Given the description of an element on the screen output the (x, y) to click on. 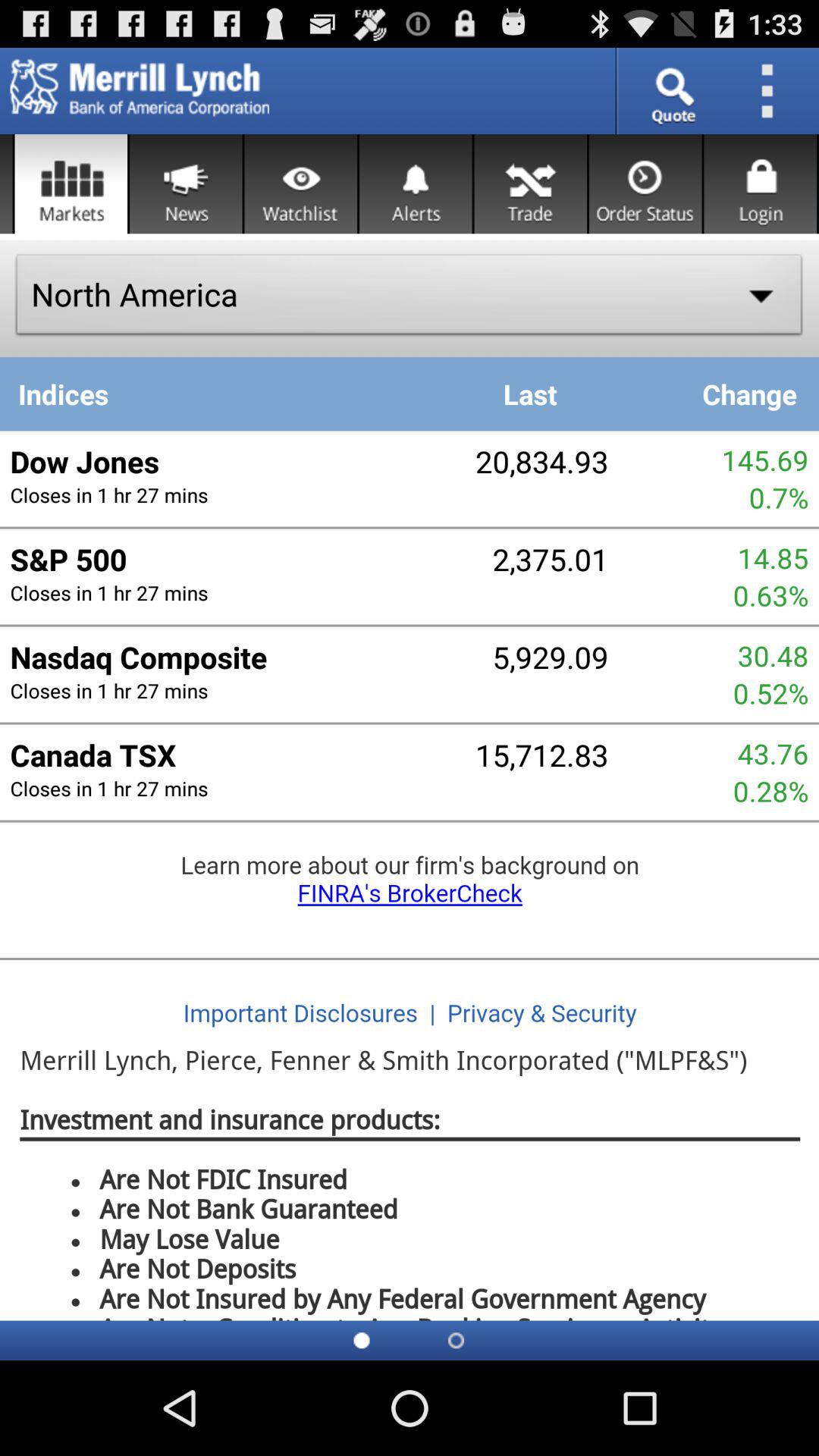
view trade (530, 183)
